Given the description of an element on the screen output the (x, y) to click on. 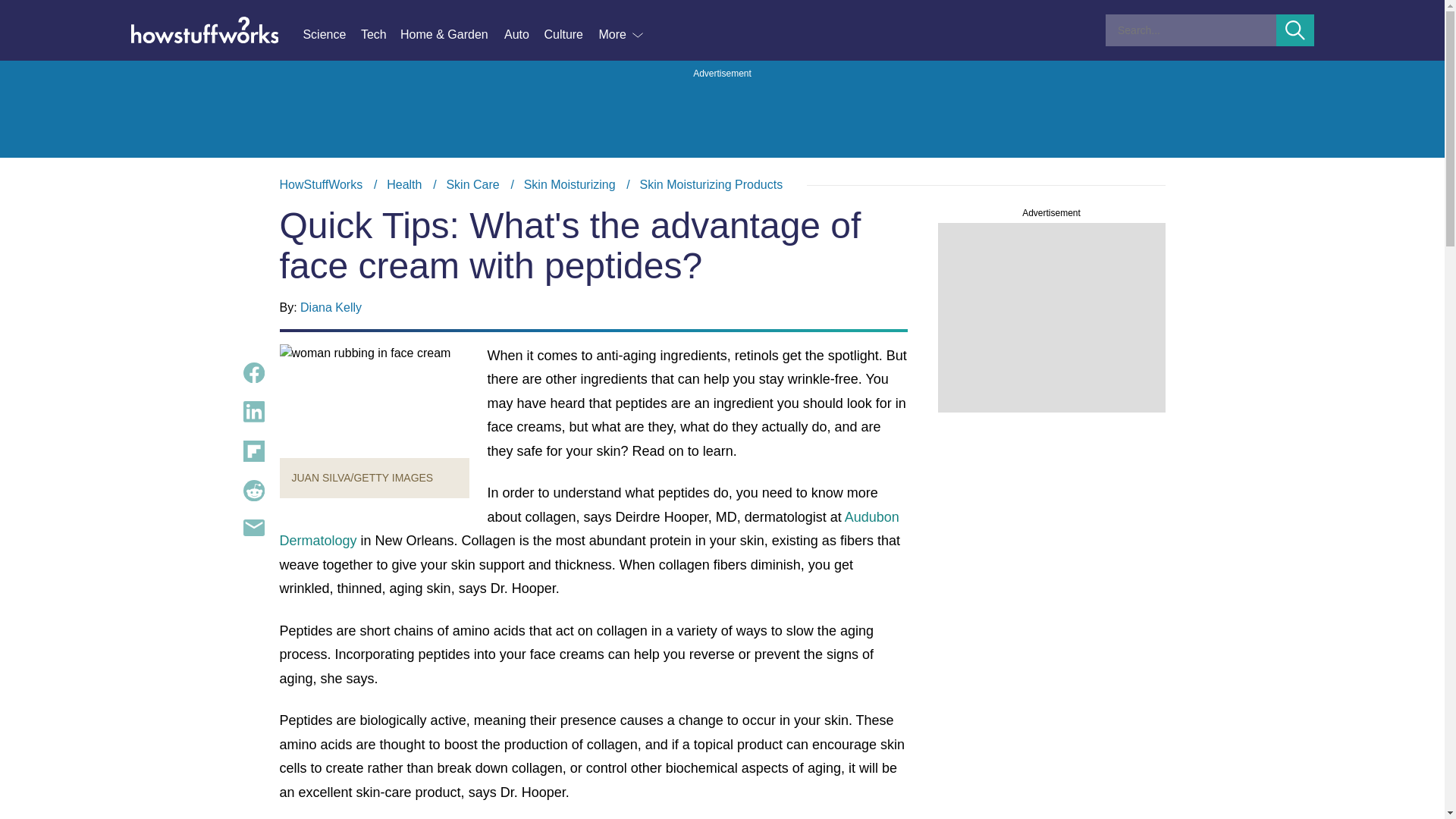
Skin Care (472, 184)
Science (330, 34)
Share Content on Facebook (253, 372)
Share Content on Reddit (253, 490)
Share Content on LinkedIn (253, 411)
Skin Moisturizing Products (711, 184)
Health (404, 184)
Share Content on Flipboard (253, 450)
Tech (380, 34)
Culture (570, 34)
Skin Moisturizing (569, 184)
Auto (523, 34)
Share Content via Email (253, 527)
More (621, 34)
HowStuffWorks (320, 184)
